Given the description of an element on the screen output the (x, y) to click on. 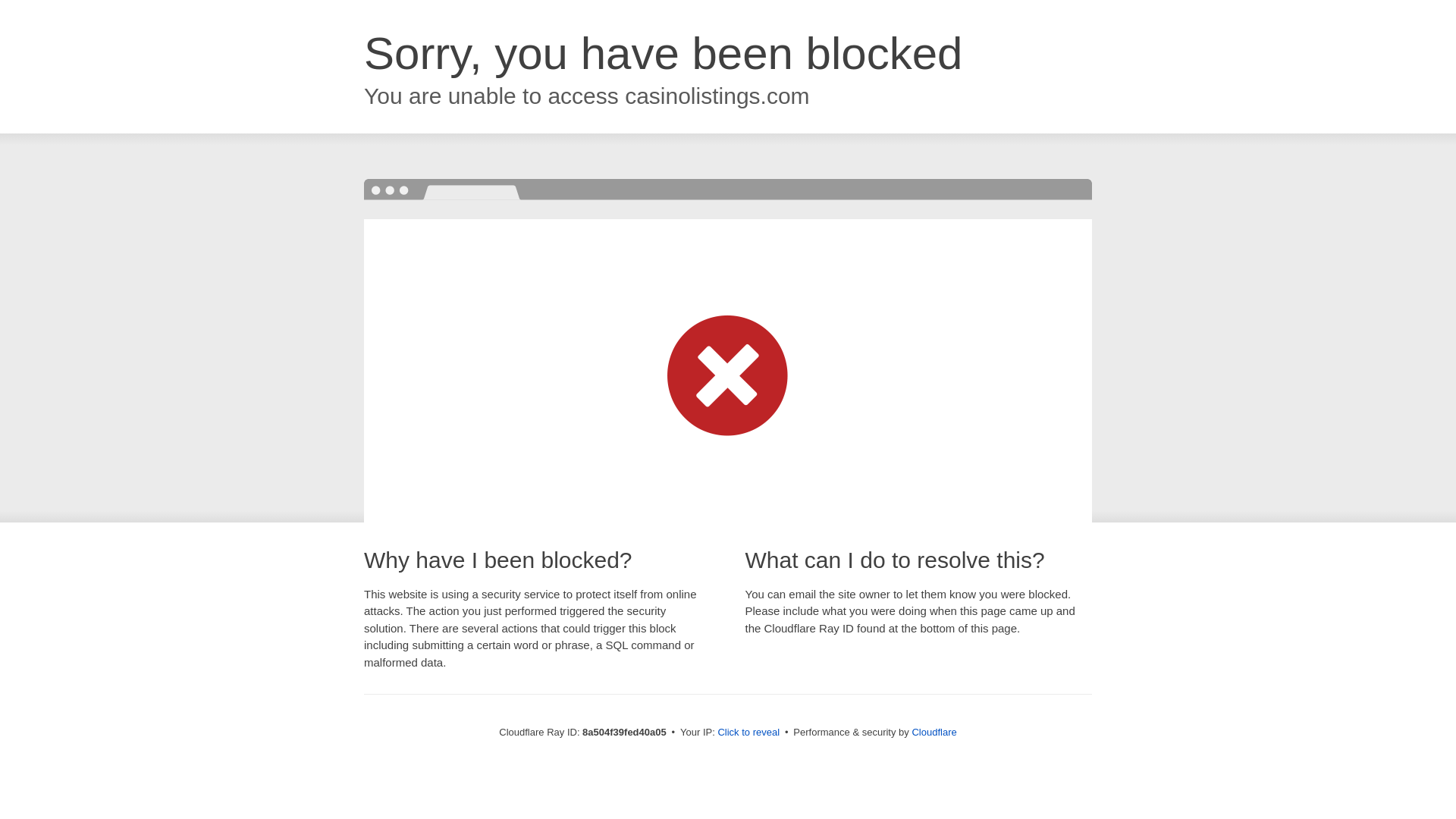
Click to reveal (747, 732)
Cloudflare (933, 731)
